Given the description of an element on the screen output the (x, y) to click on. 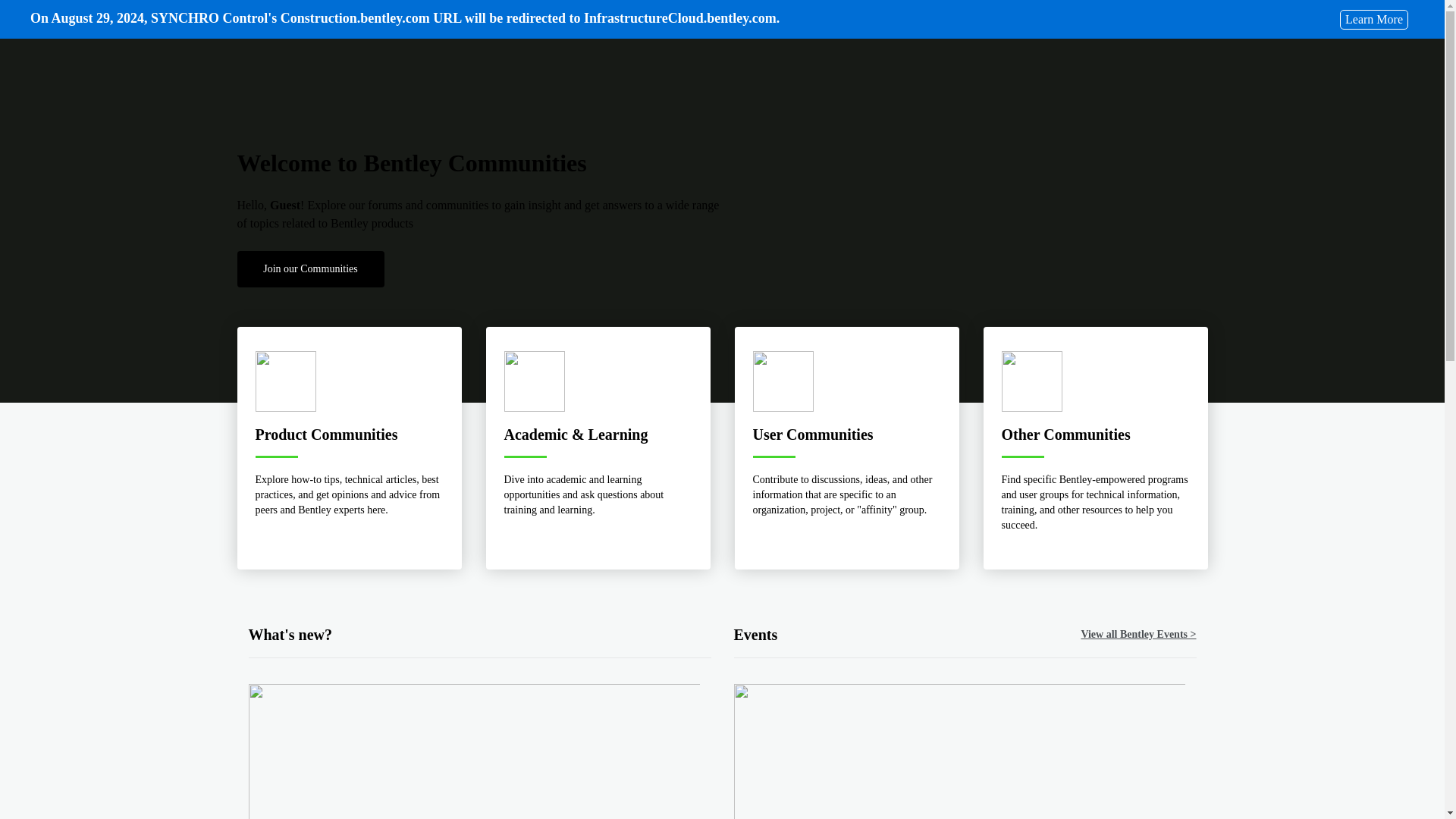
Learn More (1373, 18)
Join our Communities (309, 268)
Learn More (1373, 18)
